Given the description of an element on the screen output the (x, y) to click on. 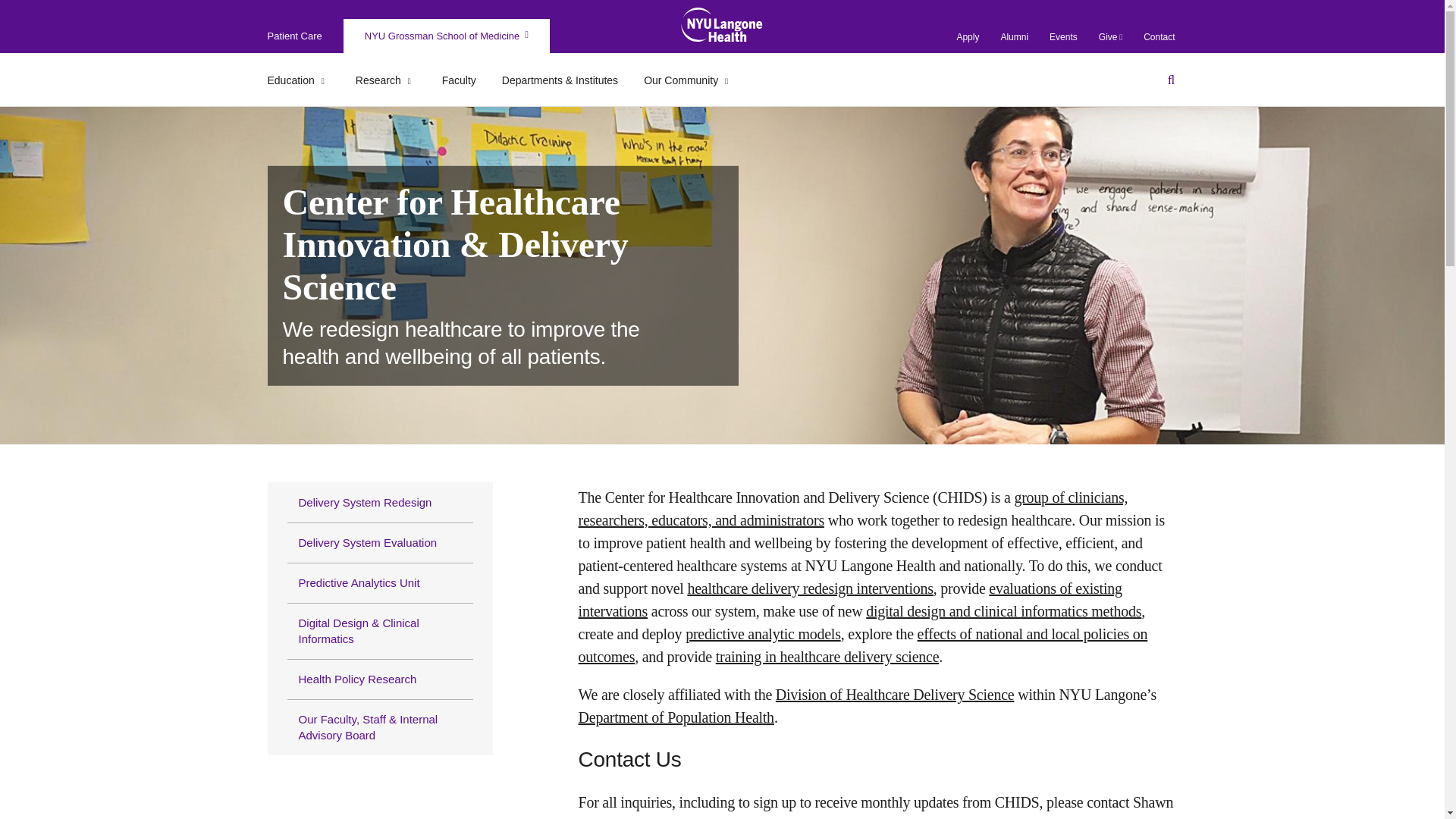
Events (1063, 36)
Apply (967, 36)
NYU Grossman School of Medicine (446, 35)
Contact (1158, 36)
Give (1110, 36)
Patient Care (294, 35)
Alumni (1013, 36)
Education (297, 81)
